Given the description of an element on the screen output the (x, y) to click on. 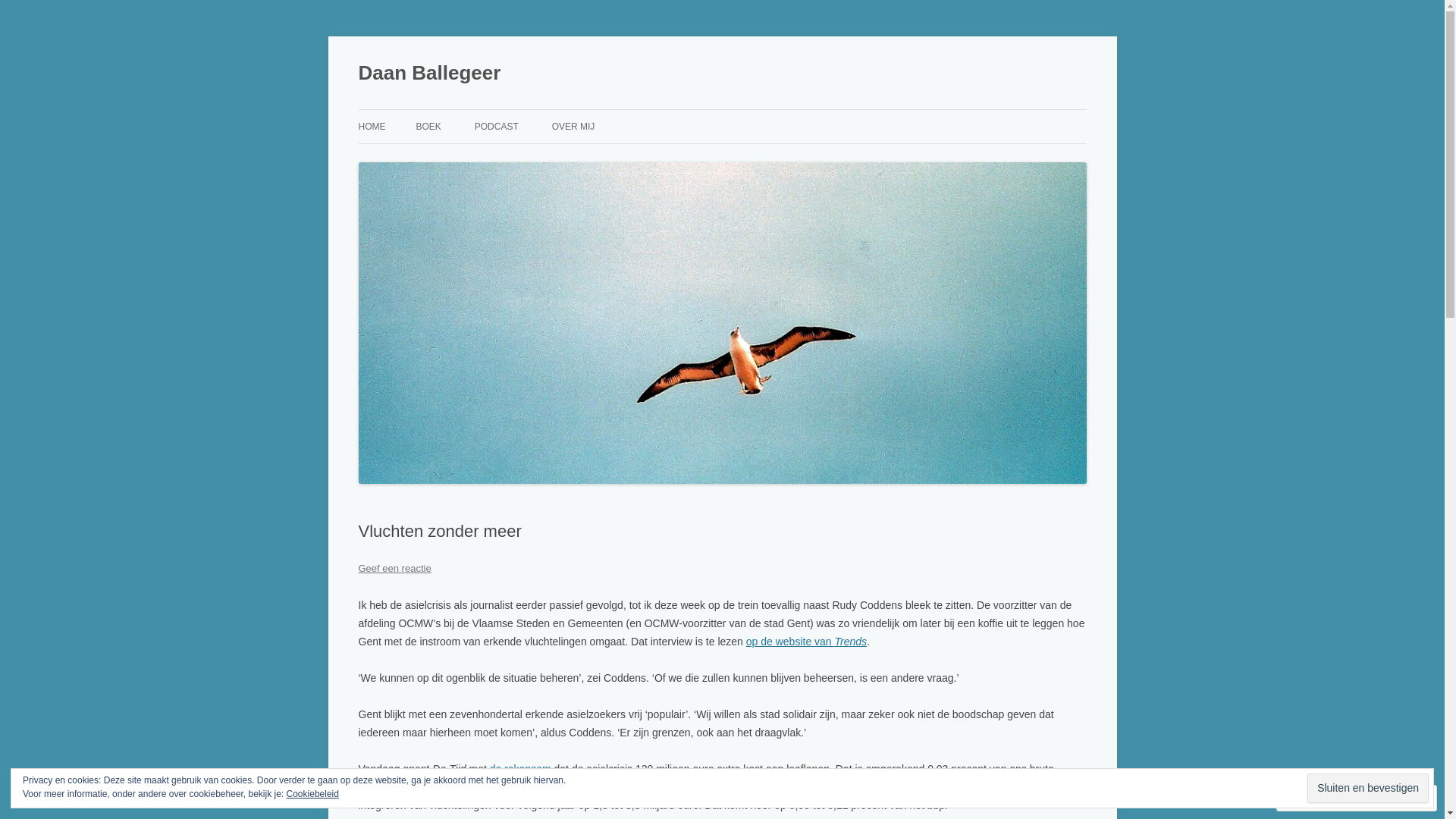
PODCAST Element type: text (496, 126)
Volg Element type: text (1378, 797)
op de website van Trends Element type: text (806, 641)
Geef een reactie Element type: text (393, 568)
Sluiten en bevestigen Element type: text (1367, 788)
Daan Ballegeer Element type: text (428, 72)
BOEK Element type: text (427, 126)
Spring naar inhoud Element type: text (721, 109)
OVER MIJ Element type: text (573, 126)
Cookiebeleid Element type: text (312, 793)
HOME Element type: text (371, 126)
de rekensom Element type: text (520, 768)
Reactie Element type: text (1313, 797)
